Given the description of an element on the screen output the (x, y) to click on. 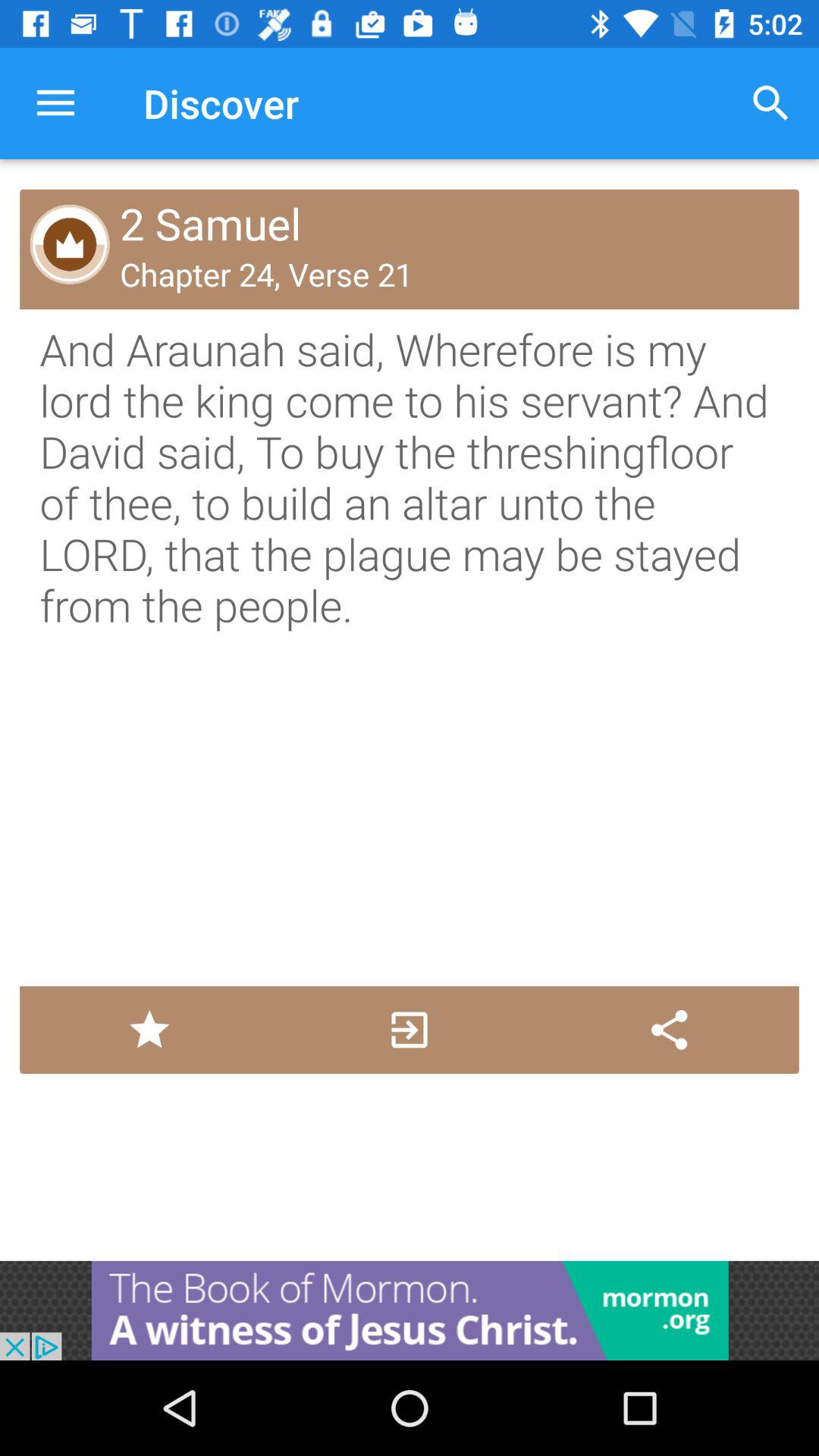
add to favels (149, 1029)
